Given the description of an element on the screen output the (x, y) to click on. 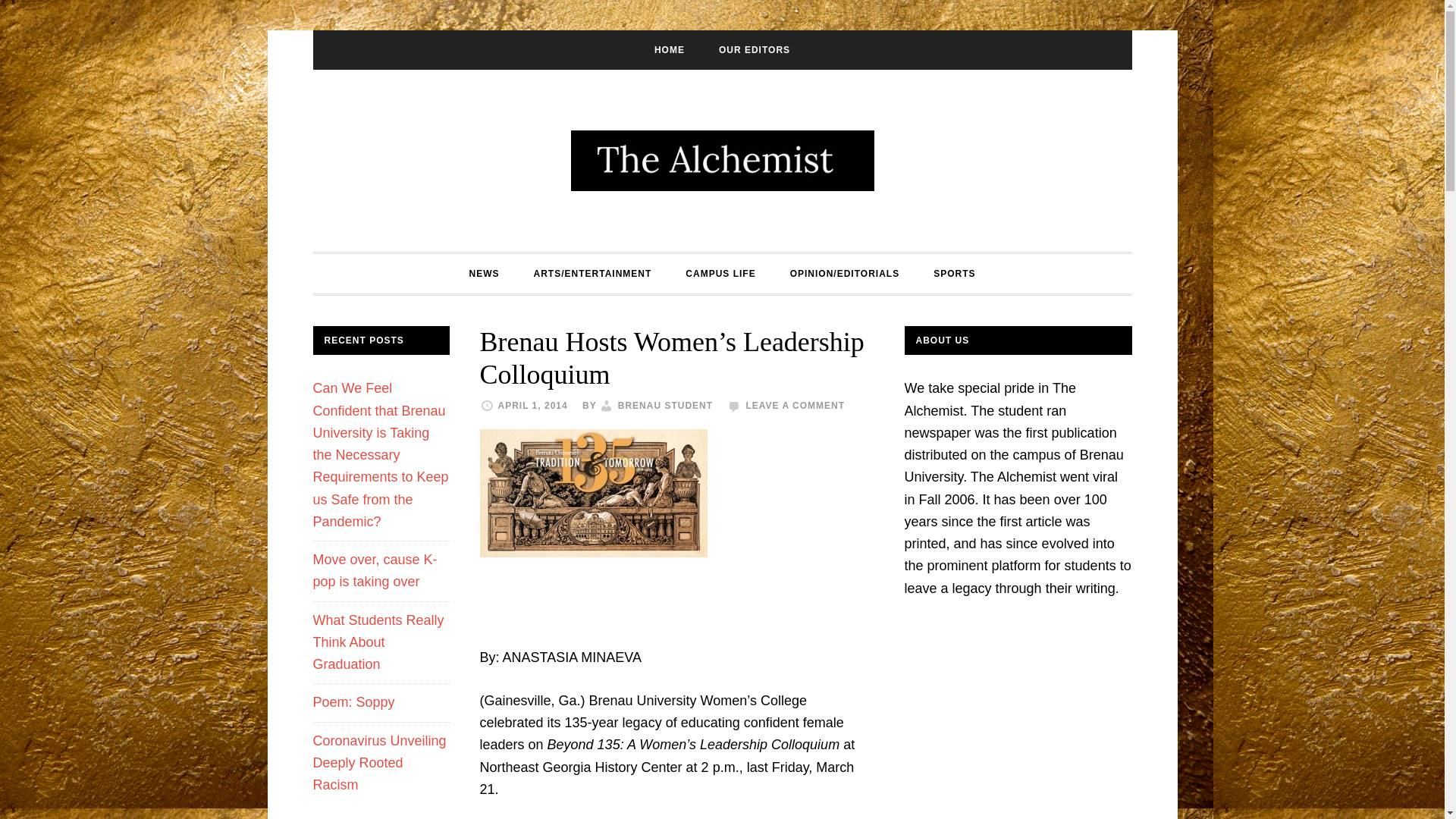
Campus Life (719, 273)
THE ALCHEMIST (721, 160)
Coronavirus Unveiling Deeply Rooted Racism (379, 763)
CAMPUS LIFE (719, 273)
BRENAU STUDENT (665, 405)
Move over, cause K-pop is taking over (374, 570)
HOME (669, 49)
Arts and Entertainment (592, 273)
News (482, 273)
LEAVE A COMMENT (794, 405)
Alchemist Home Page (669, 49)
SPORTS (954, 273)
What Students Really Think About Graduation (378, 642)
OUR EDITORS (754, 49)
